Given the description of an element on the screen output the (x, y) to click on. 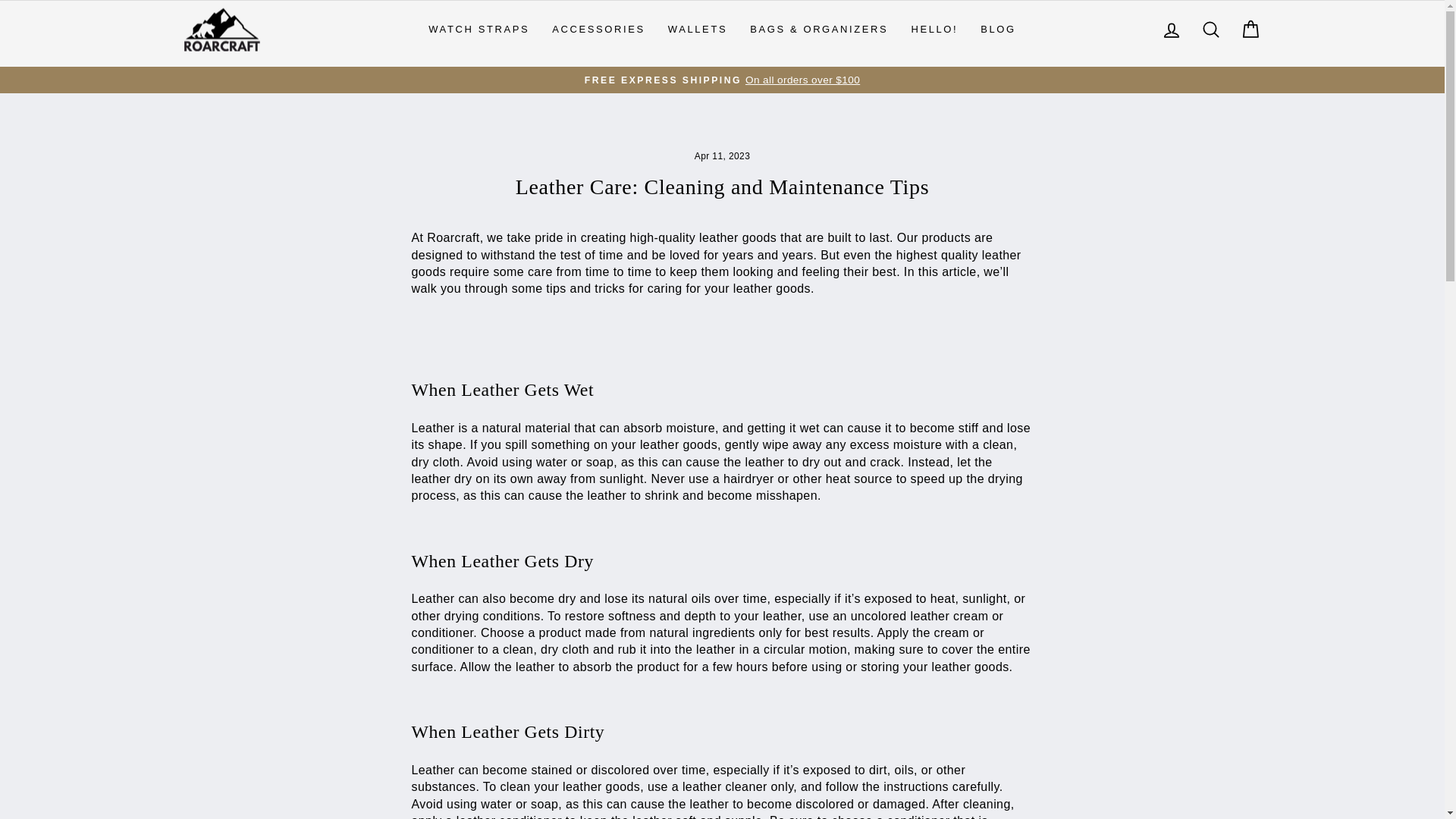
WATCH STRAPS (478, 29)
ACCESSORIES (598, 29)
